Given the description of an element on the screen output the (x, y) to click on. 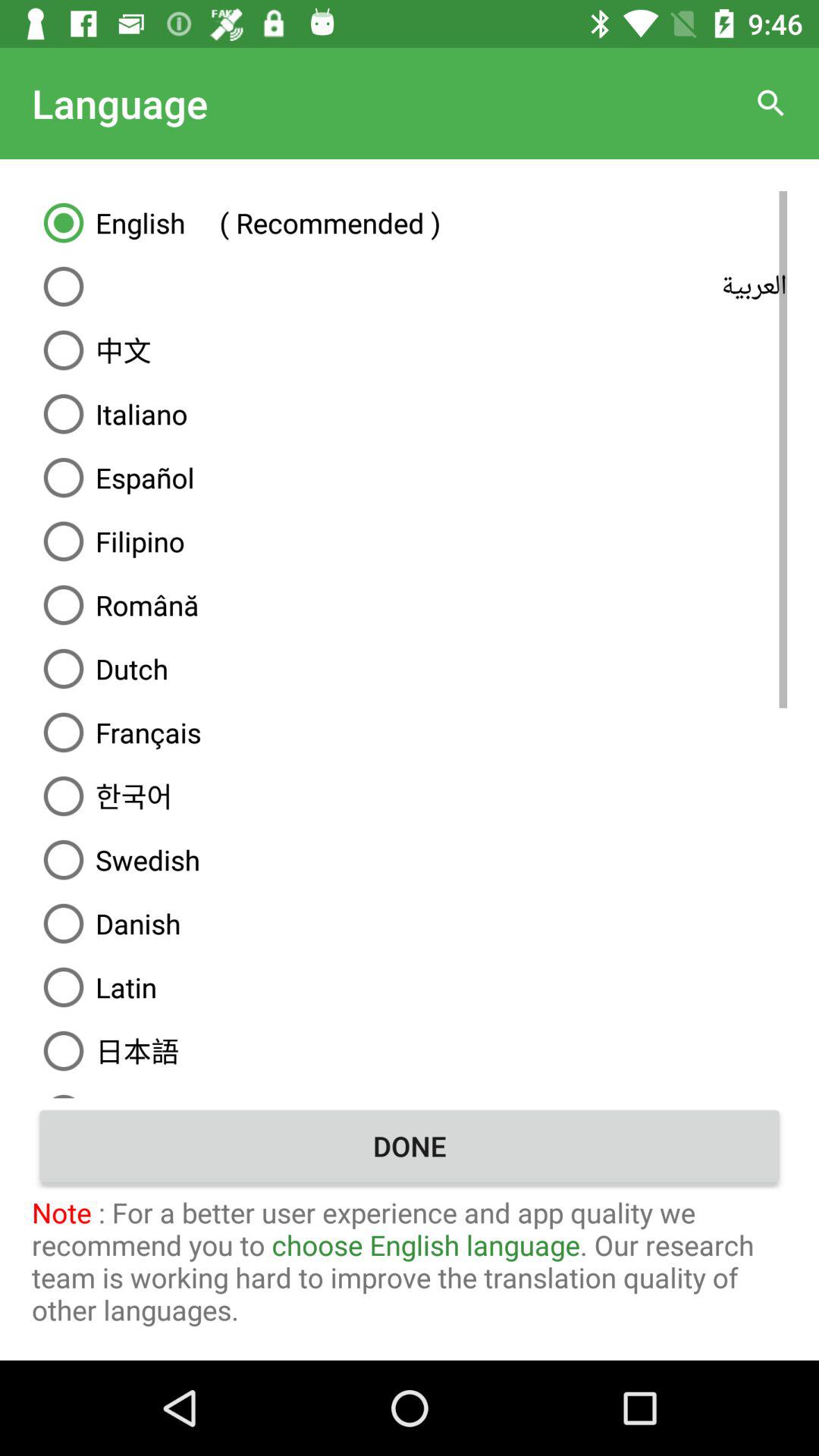
open icon above the italiano item (409, 350)
